Given the description of an element on the screen output the (x, y) to click on. 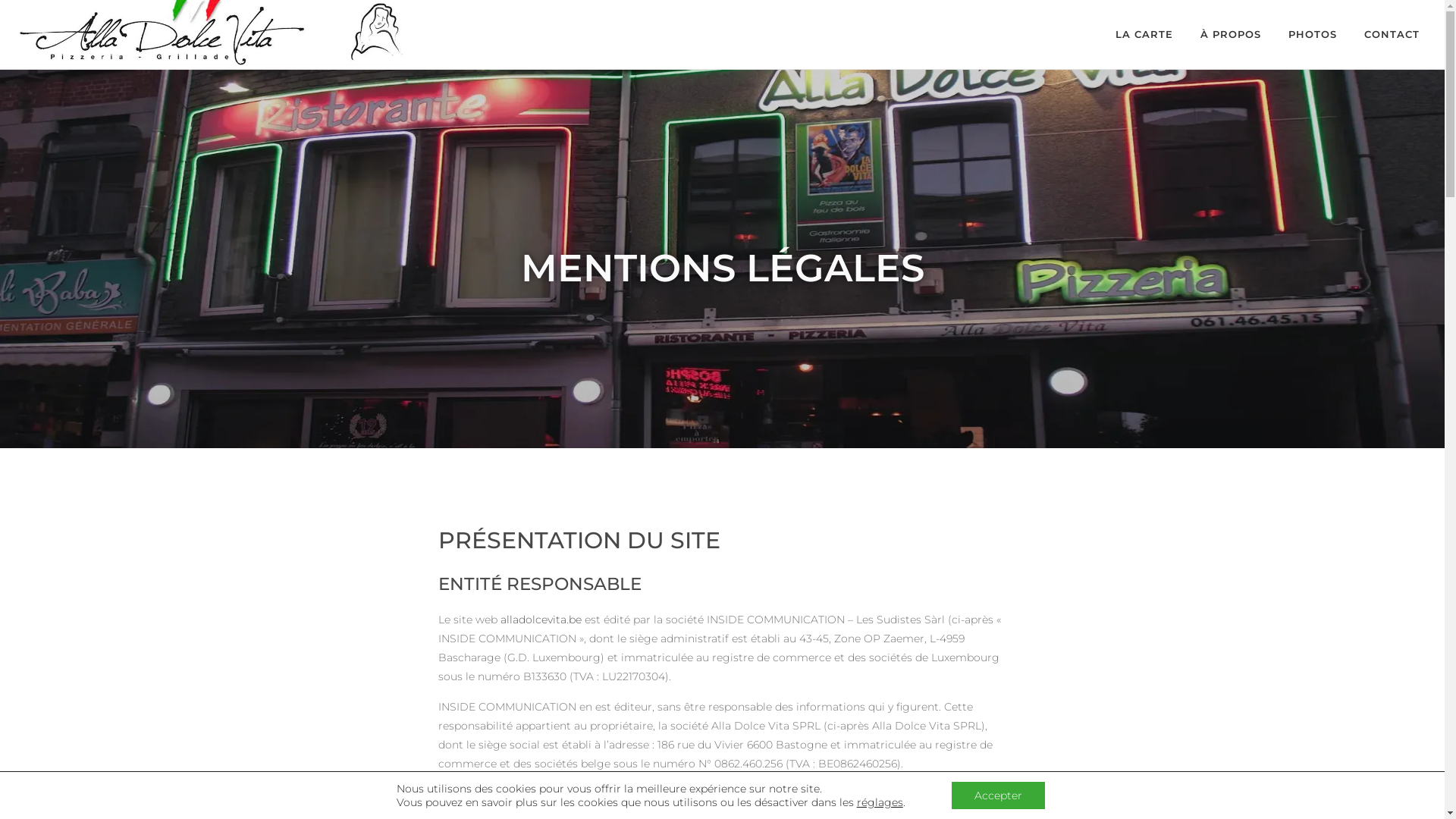
PHOTOS Element type: text (1312, 34)
Accepter Element type: text (997, 795)
CONTACT Element type: text (1391, 34)
alladolcevita.be Element type: text (540, 619)
LA CARTE Element type: text (1143, 34)
